Given the description of an element on the screen output the (x, y) to click on. 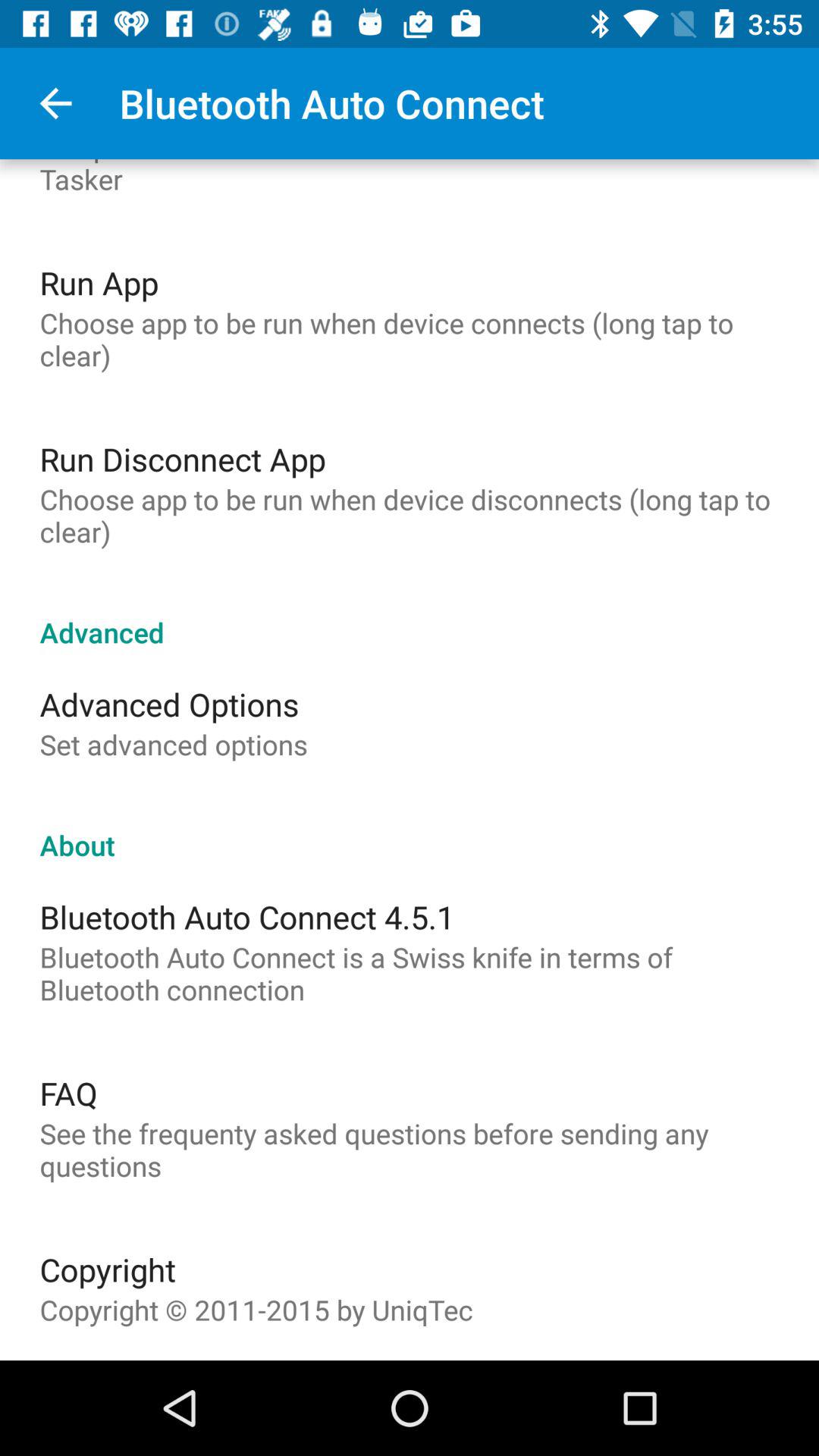
flip to see the frequenty icon (409, 1149)
